Given the description of an element on the screen output the (x, y) to click on. 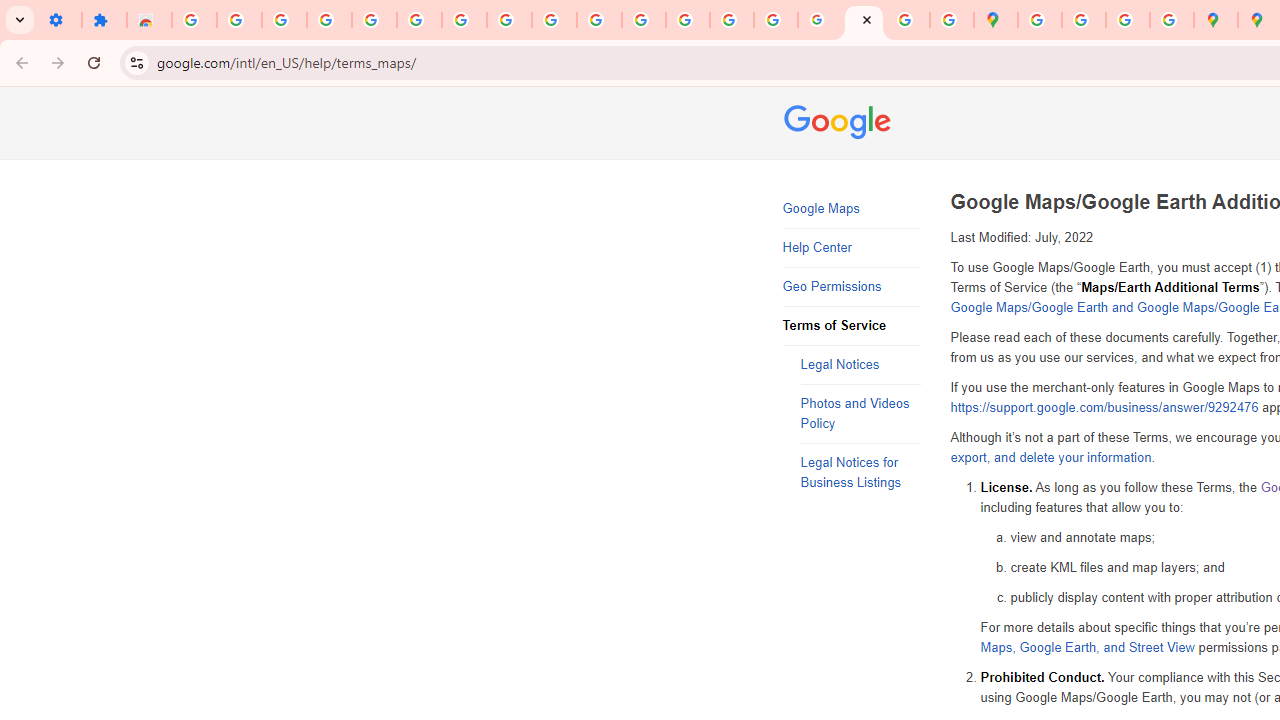
Google (840, 123)
Google Maps (851, 209)
Google Maps (995, 20)
Extensions (103, 20)
https://support.google.com/business/answer/9292476 (1104, 408)
Google Account (509, 20)
Settings - On startup (59, 20)
Legal Notices for Business Listings (860, 473)
